Given the description of an element on the screen output the (x, y) to click on. 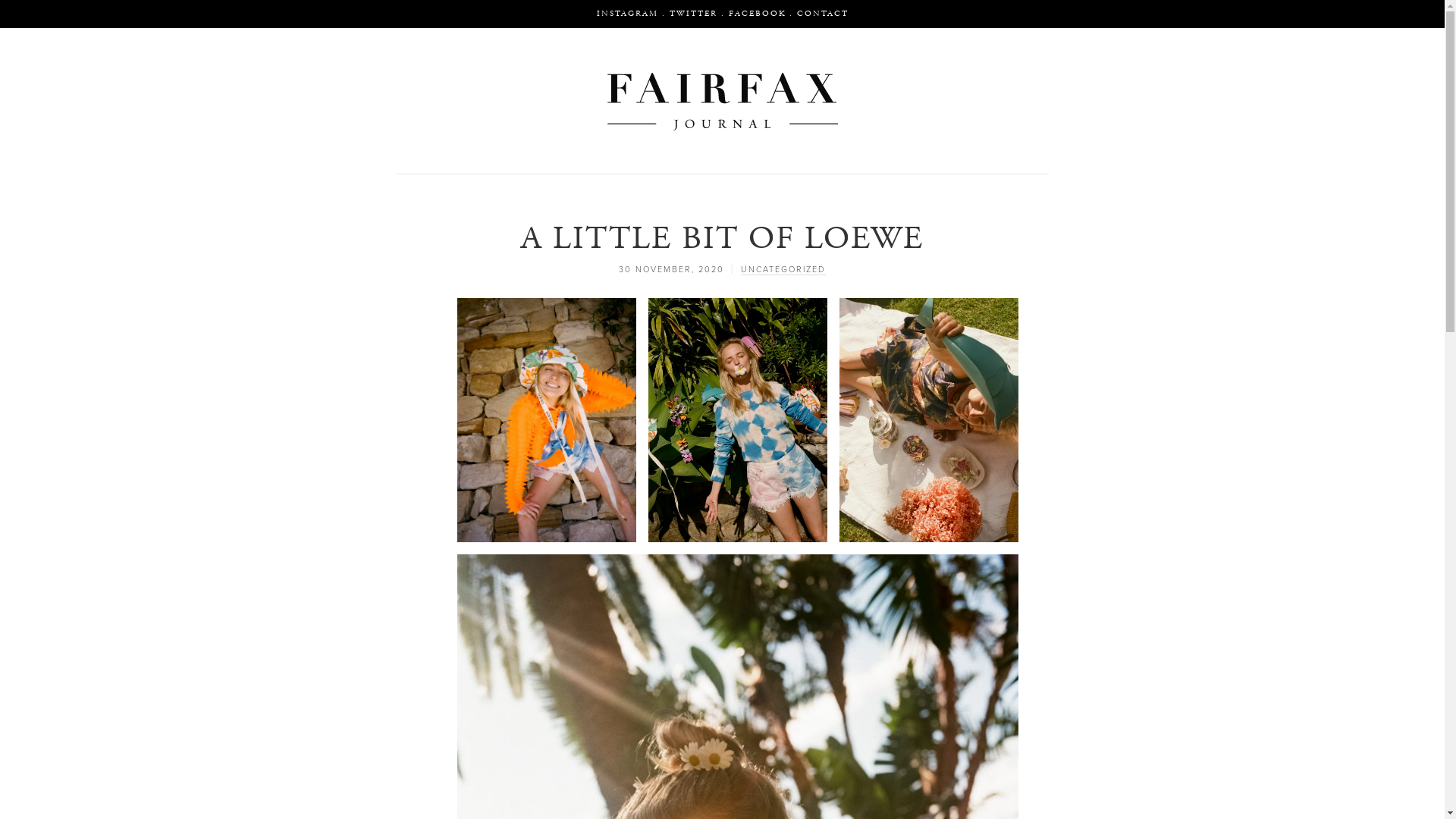
http://fairfaxjournal.com.au/ Element type: hover (721, 99)
CONTACT Element type: text (821, 14)
FACEBOOK . Element type: text (760, 14)
TWITTER . Element type: text (696, 14)
INSTAGRAM . Element type: text (630, 14)
UNCATEGORIZED Element type: text (782, 268)
